Given the description of an element on the screen output the (x, y) to click on. 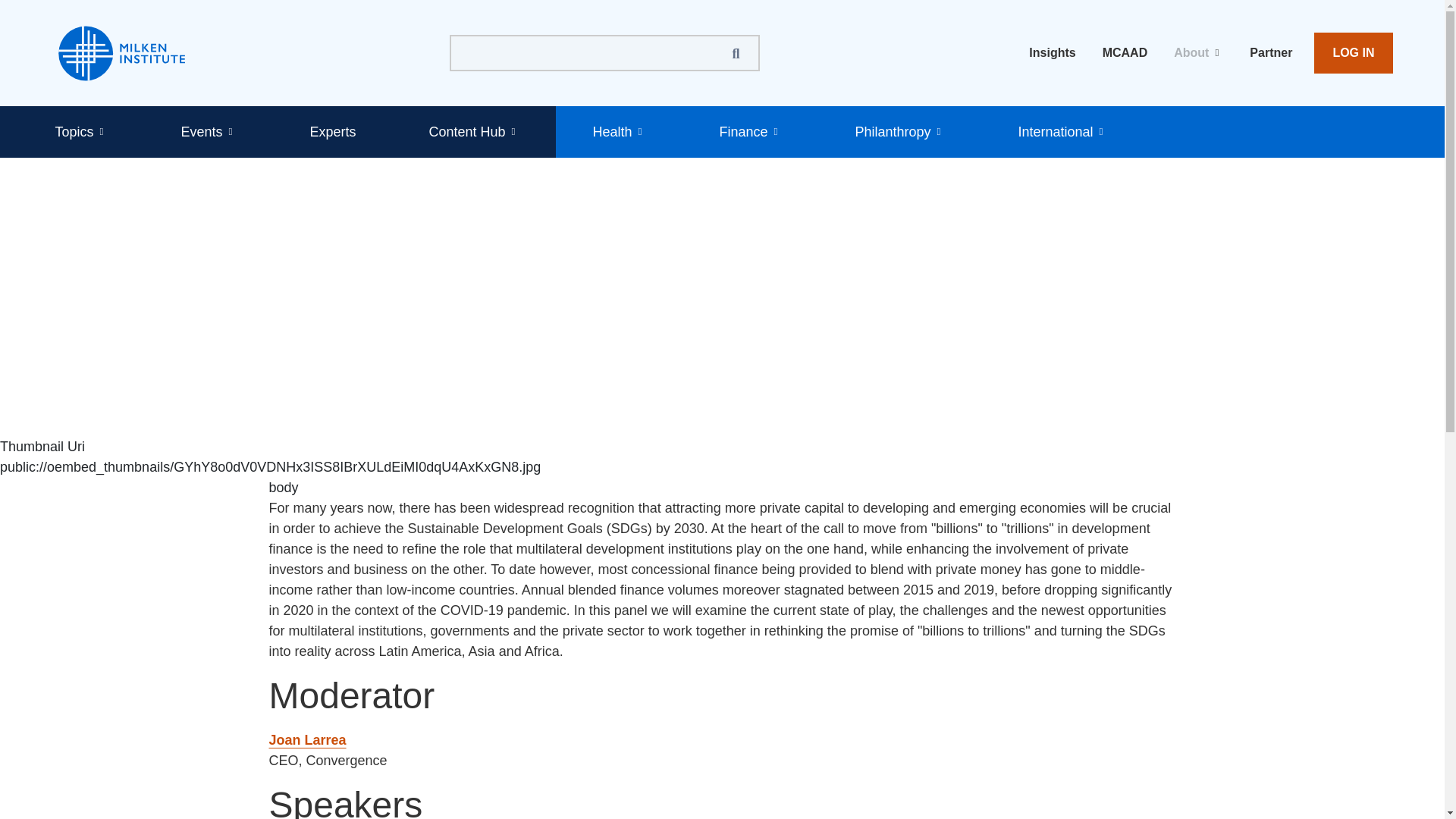
MCAAD (1125, 52)
About (1198, 52)
LOG IN (1352, 52)
Topics (81, 132)
Insights (1052, 52)
Partner (1270, 52)
